Given the description of an element on the screen output the (x, y) to click on. 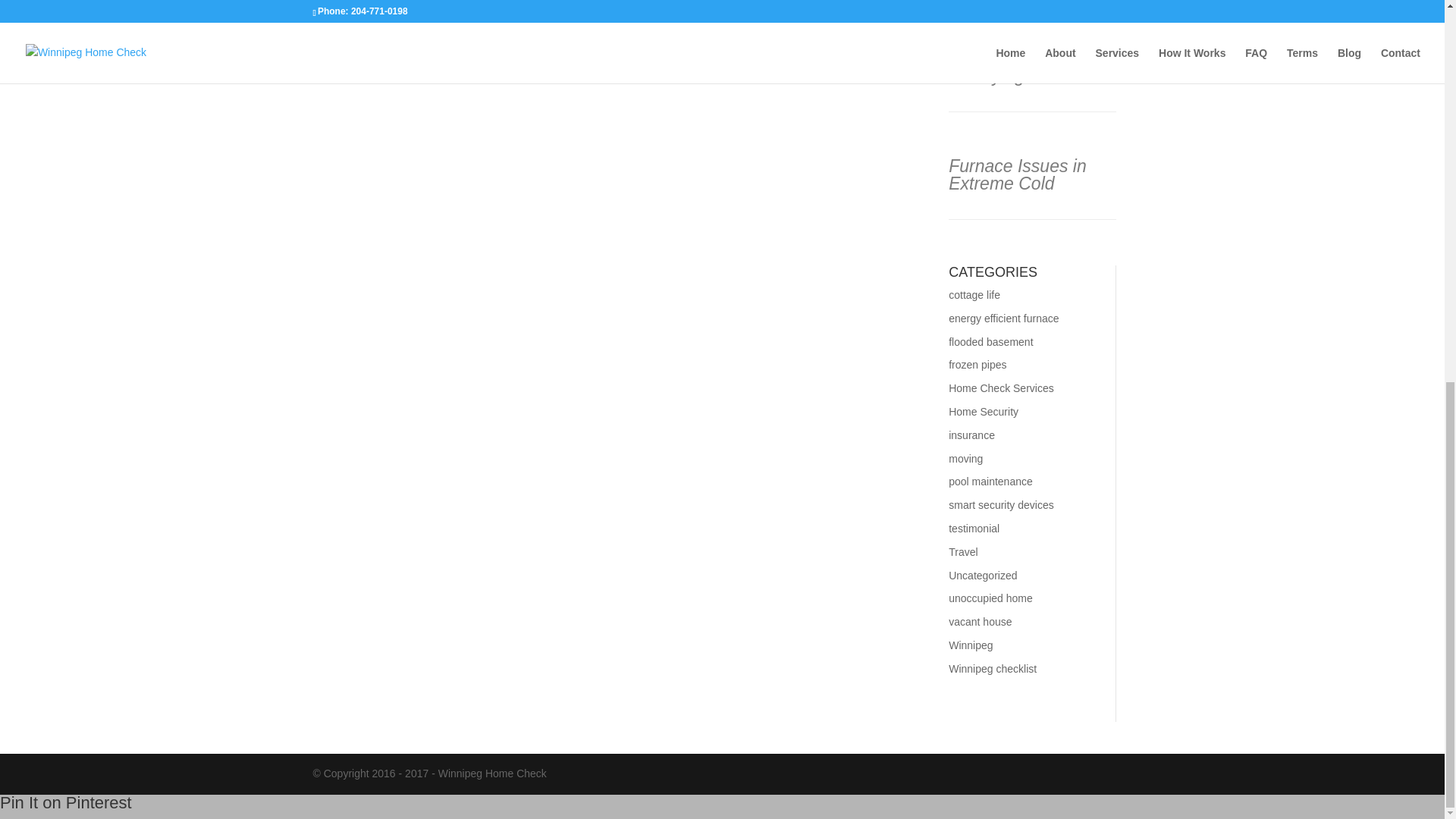
frozen pipes (977, 364)
Furnace Issues in Extreme Cold (1017, 174)
vacant house (980, 621)
smart security devices (1000, 504)
pool maintenance (990, 481)
Travel (962, 551)
Uncategorized (982, 575)
moving (965, 458)
testimonial (973, 528)
flooded basement (990, 341)
